Given the description of an element on the screen output the (x, y) to click on. 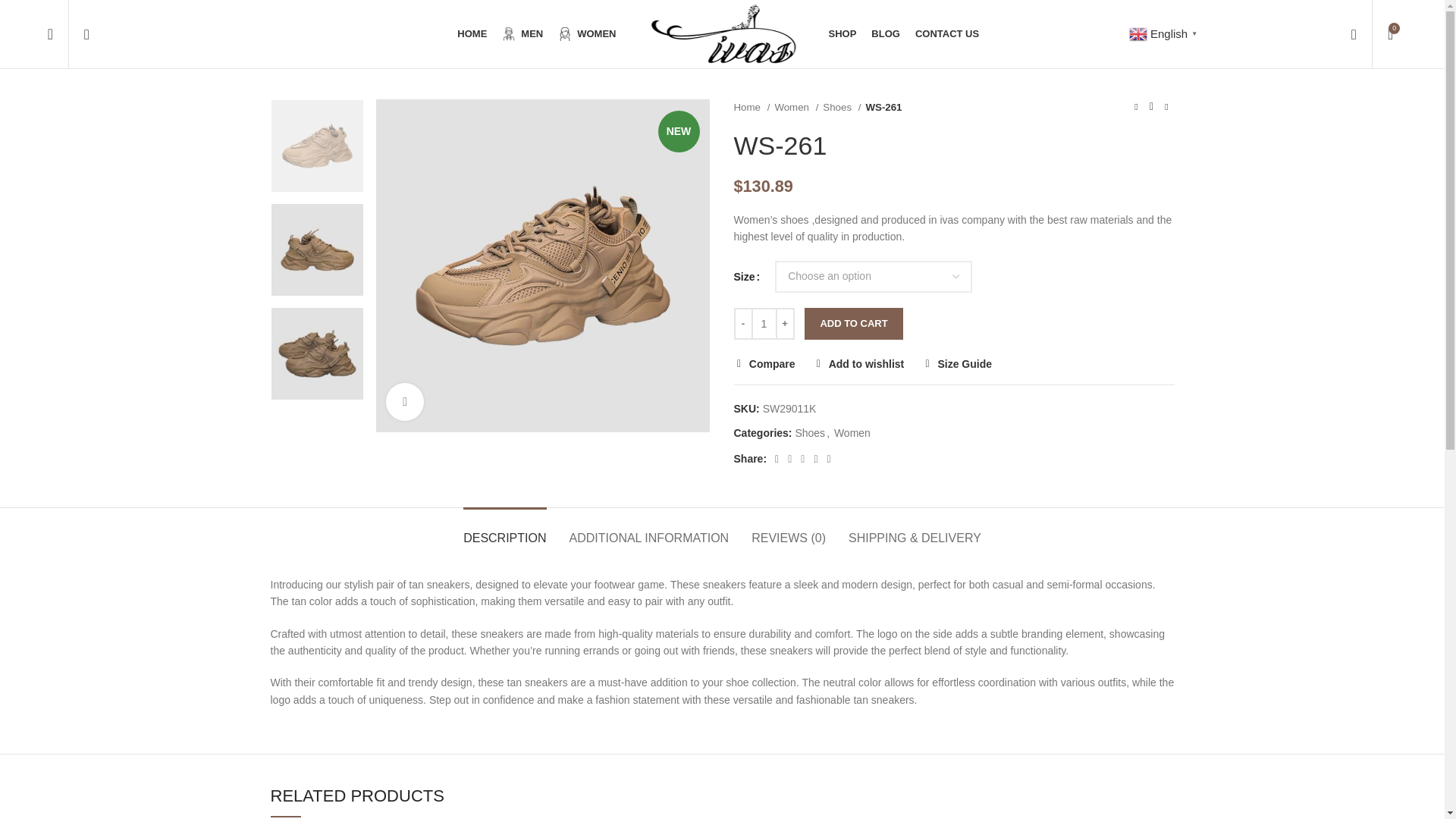
MEN (522, 33)
BLOG (885, 33)
564-1G (542, 265)
HOME (472, 33)
CONTACT US (947, 33)
WOMEN (586, 33)
Shoes (841, 107)
SHOP (842, 33)
Home (751, 107)
Women (796, 107)
